Given the description of an element on the screen output the (x, y) to click on. 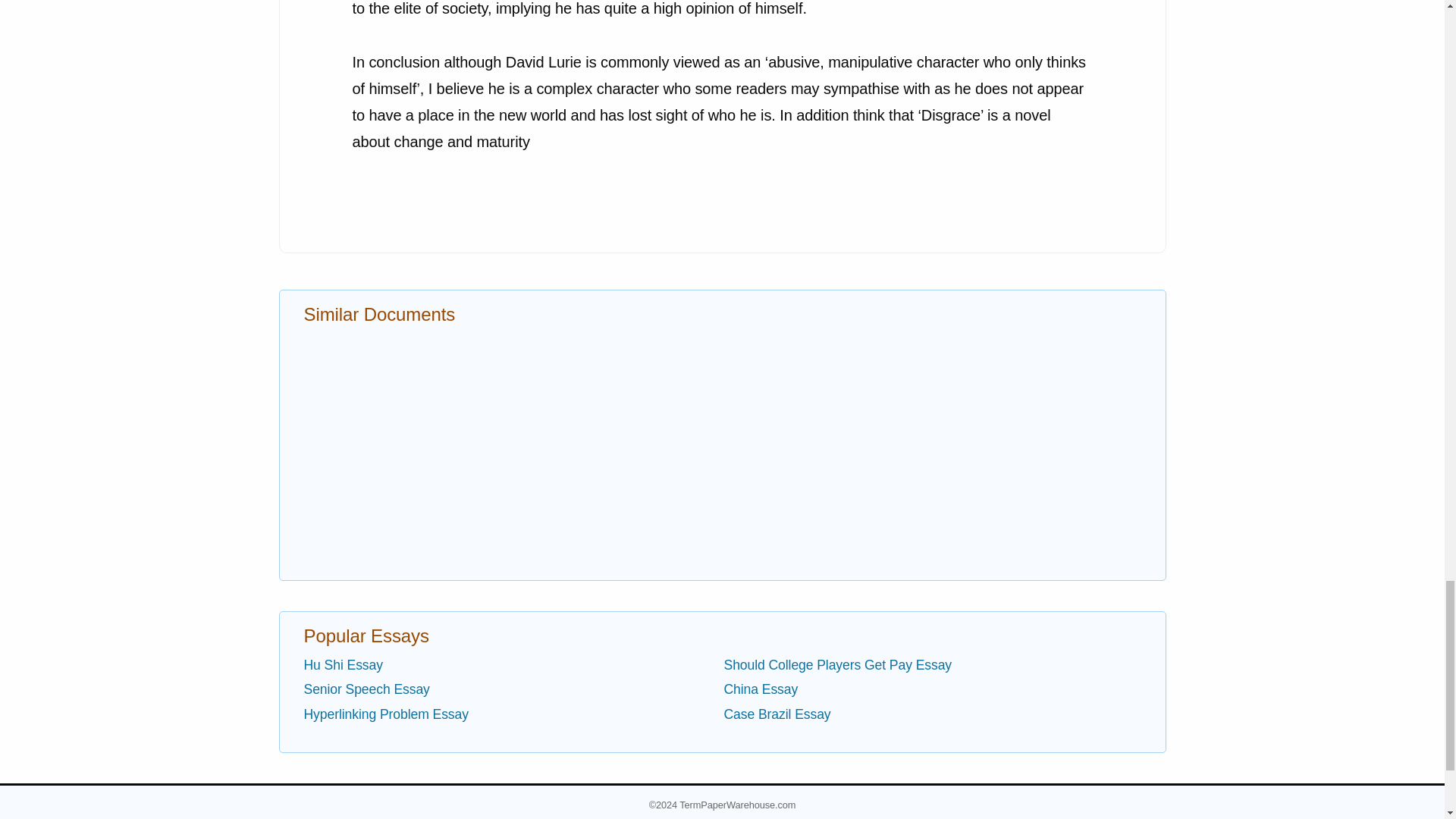
Terms of Service (600, 816)
Case Brazil Essay (776, 713)
Contact Us (751, 816)
Should College Players Get Pay Essay (837, 664)
Hyperlinking Problem Essay (384, 713)
Help (810, 816)
Privacy Policy (410, 816)
CA Privacy Policy (502, 816)
Senior Speech Essay (365, 688)
Plagiarism (682, 816)
China Essay (760, 688)
CA Privacy Policy (502, 816)
Help (810, 816)
Hu Shi Essay (341, 664)
Terms of Service (600, 816)
